Given the description of an element on the screen output the (x, y) to click on. 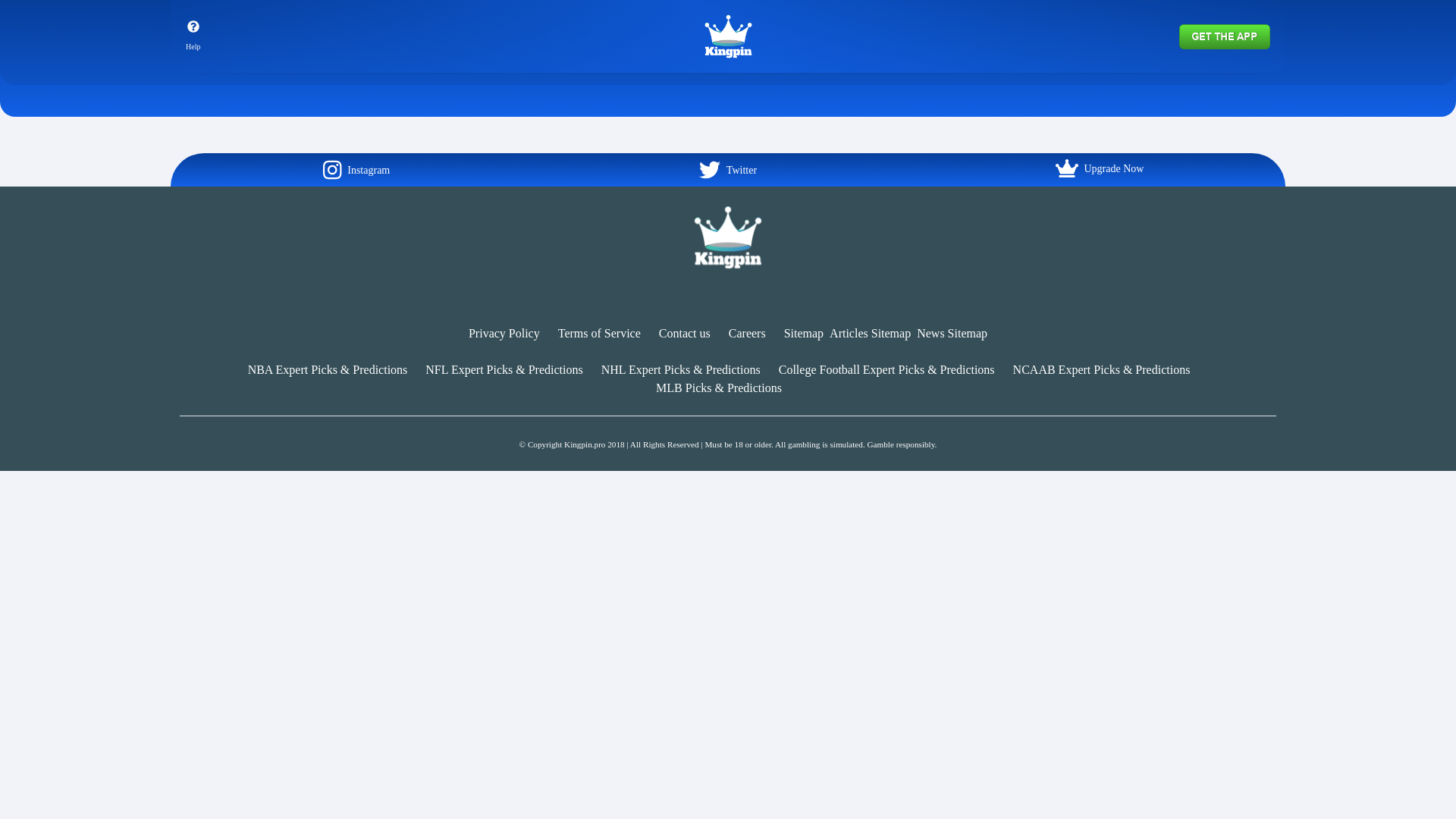
Twitter (727, 169)
Upgrade Now (1099, 167)
Contact us (684, 332)
Privacy Policy (504, 332)
Articles Sitemap (870, 332)
Kingpin Sports Picks App (1224, 34)
Careers (747, 332)
News Sitemap (952, 332)
Terms of Service (598, 332)
Sitemap (804, 332)
